Given the description of an element on the screen output the (x, y) to click on. 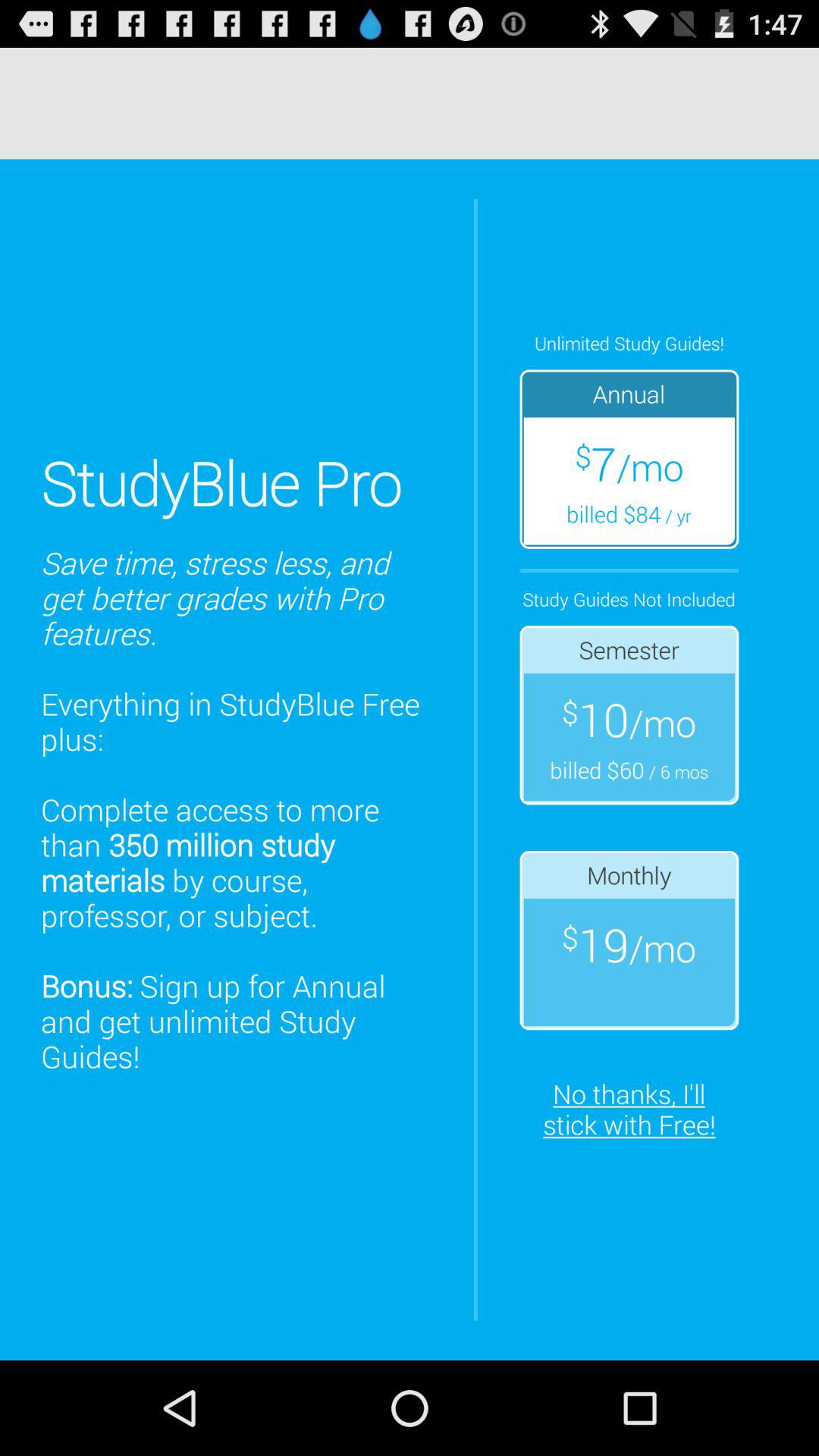
scroll to the no thanks i icon (629, 1109)
